Given the description of an element on the screen output the (x, y) to click on. 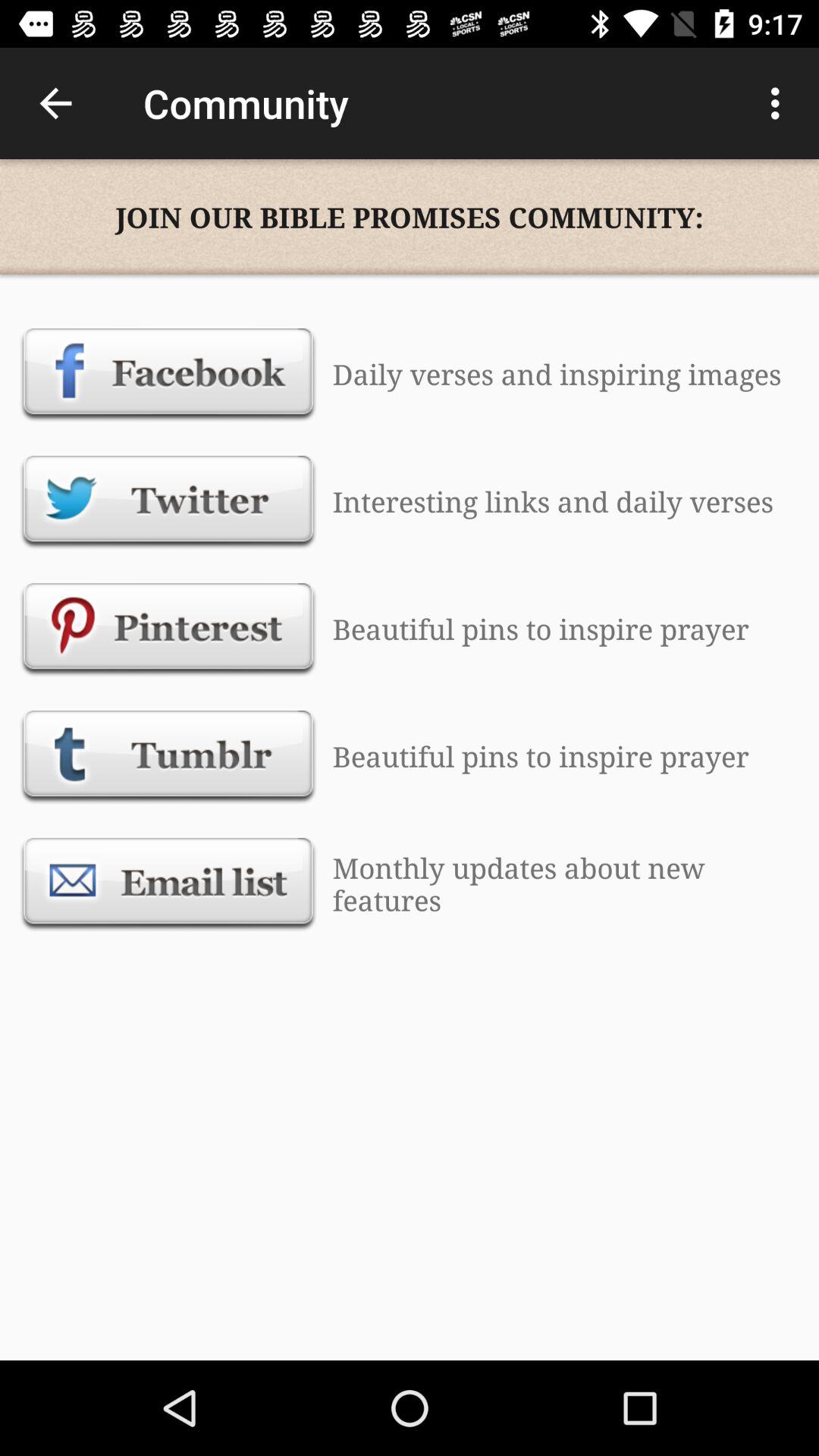
tumblr icon (167, 756)
